Given the description of an element on the screen output the (x, y) to click on. 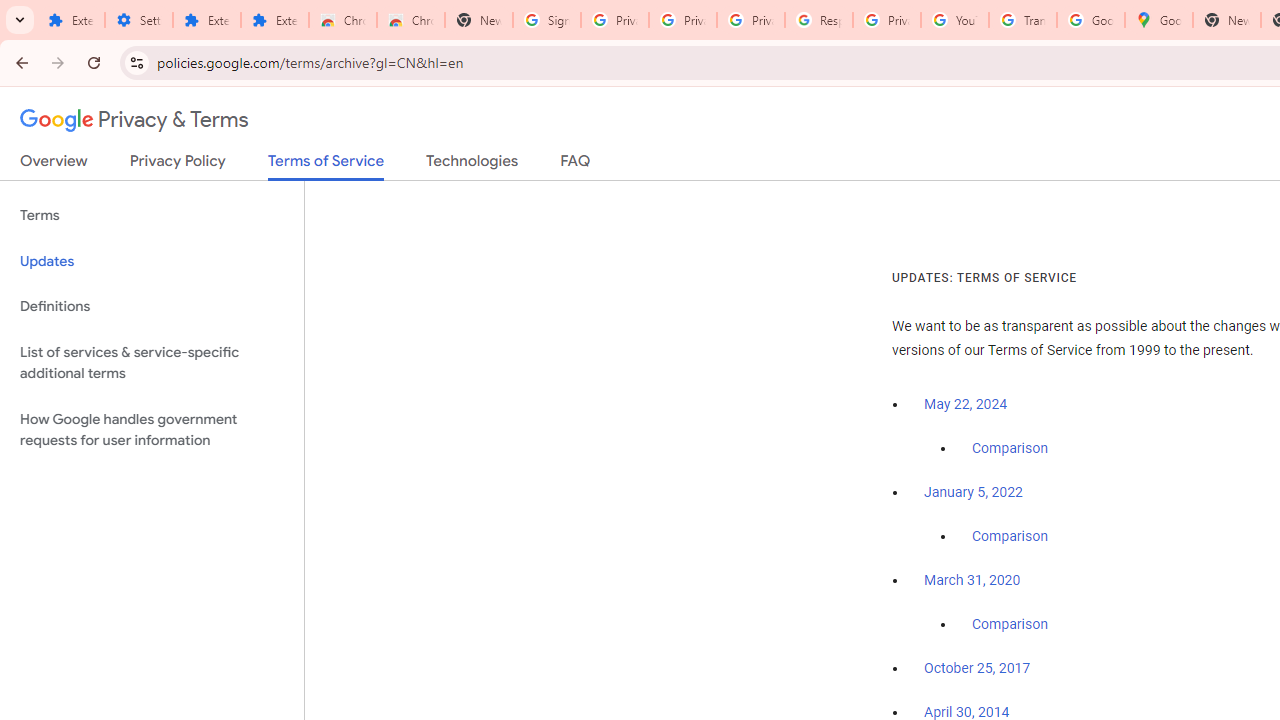
New Tab (1226, 20)
Settings (138, 20)
Definitions (152, 306)
Extensions (70, 20)
October 25, 2017 (977, 669)
